Given the description of an element on the screen output the (x, y) to click on. 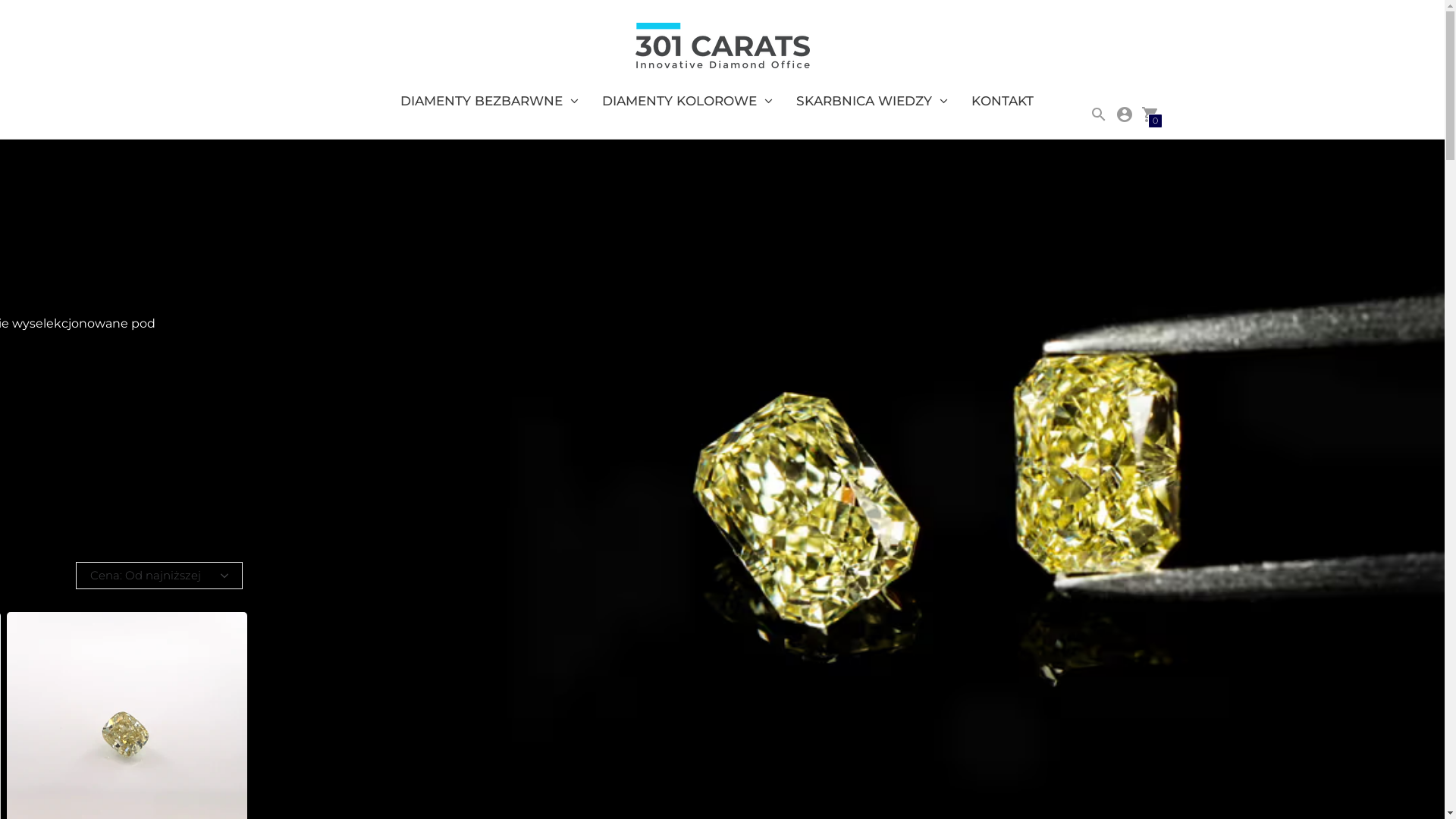
DIAMENTY KOLOROWE Element type: text (687, 100)
DIAMENTY BEZBARWNE Element type: text (489, 100)
SKARBNICA WIEDZY Element type: text (871, 100)
KONTAKT Element type: text (1002, 100)
0 Element type: text (1149, 113)
